Given the description of an element on the screen output the (x, y) to click on. 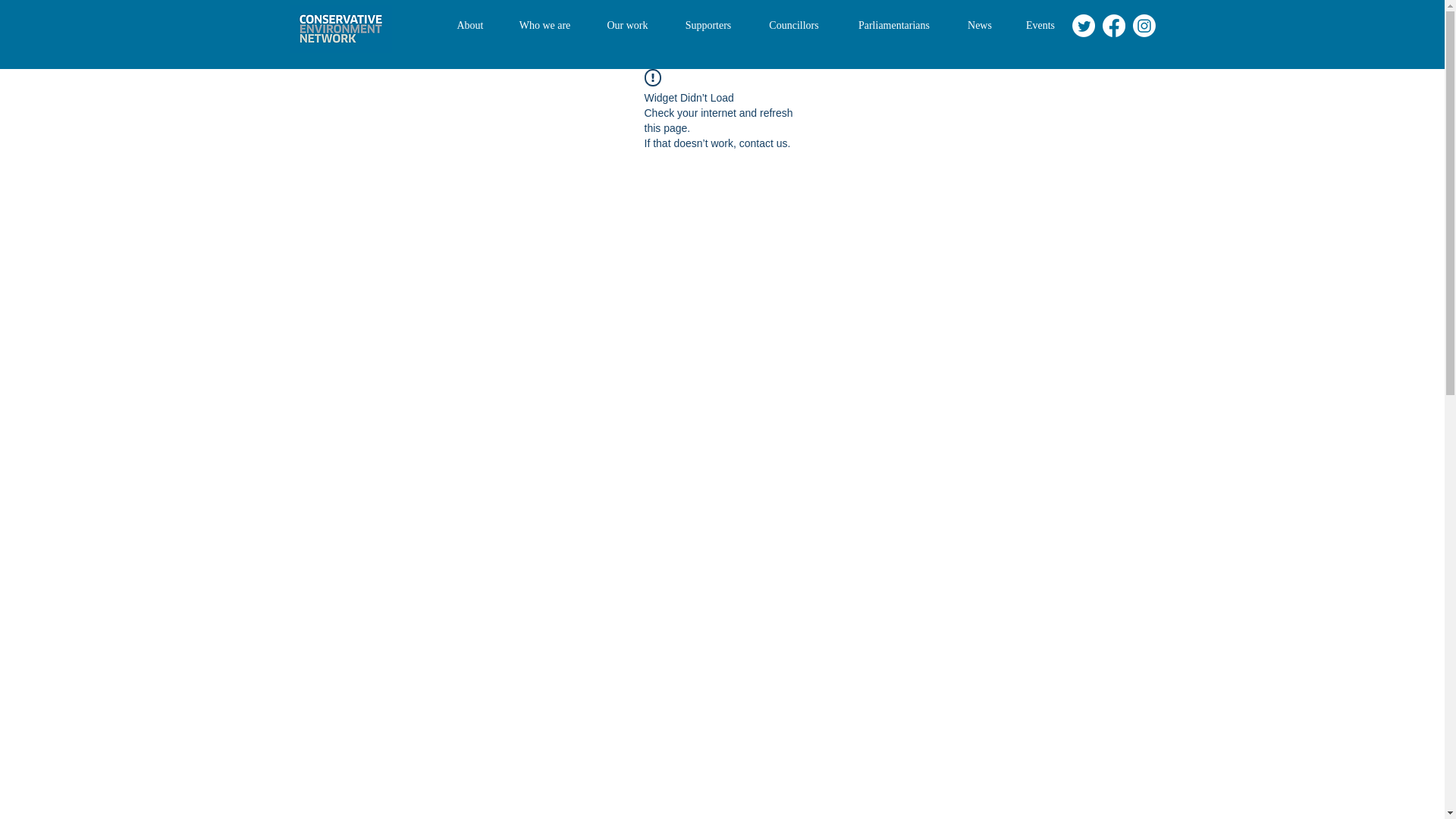
Councillors (794, 25)
! (653, 77)
Supporters (707, 25)
Events (1040, 25)
About (469, 25)
